Given the description of an element on the screen output the (x, y) to click on. 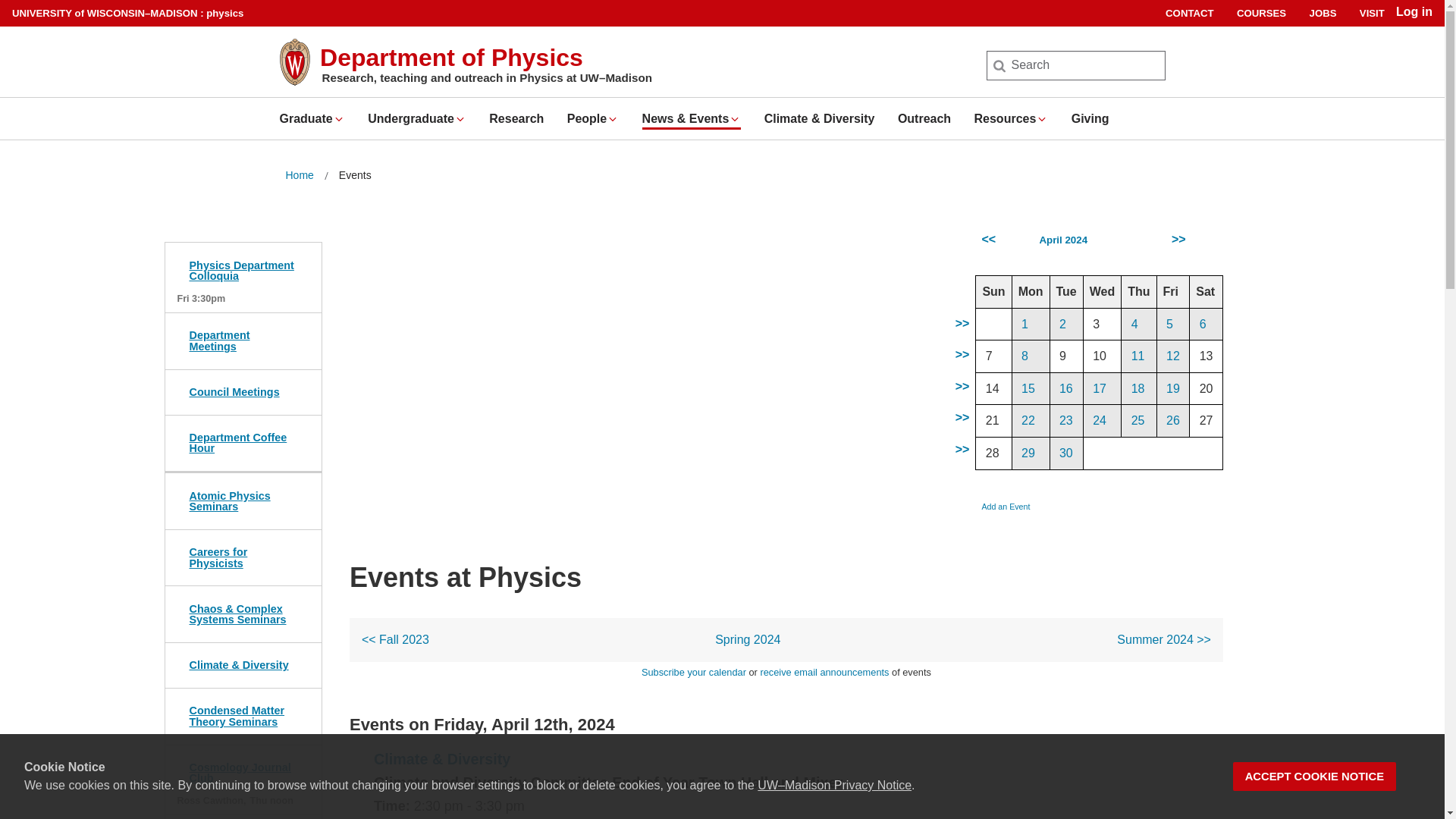
People Expand (592, 118)
Expand (612, 119)
Search (37, 16)
Events (355, 175)
Research (516, 118)
Expand (1041, 119)
Home (299, 175)
Expand (735, 119)
Undergraduate Expand (416, 118)
Department of Physics (451, 57)
ACCEPT COOKIE NOTICE (1314, 776)
Graduate Expand (311, 118)
physics (224, 12)
Expand (459, 119)
Skip to main content (3, 3)
